Given the description of an element on the screen output the (x, y) to click on. 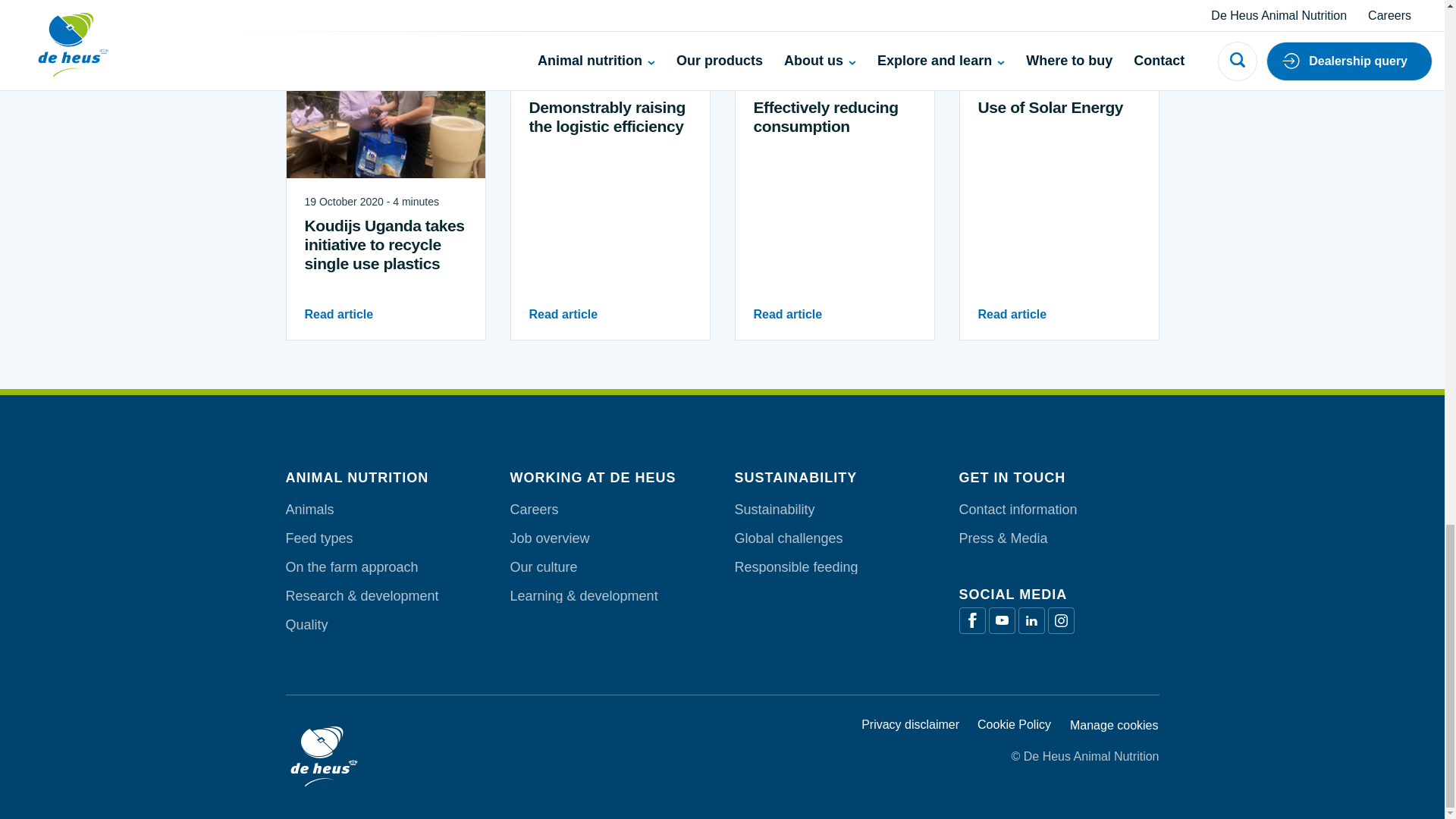
Use of Solar Energy (1059, 257)
Effectively reducing consumption (834, 267)
Demonstrably raising the logistic efficiency (610, 267)
